Given the description of an element on the screen output the (x, y) to click on. 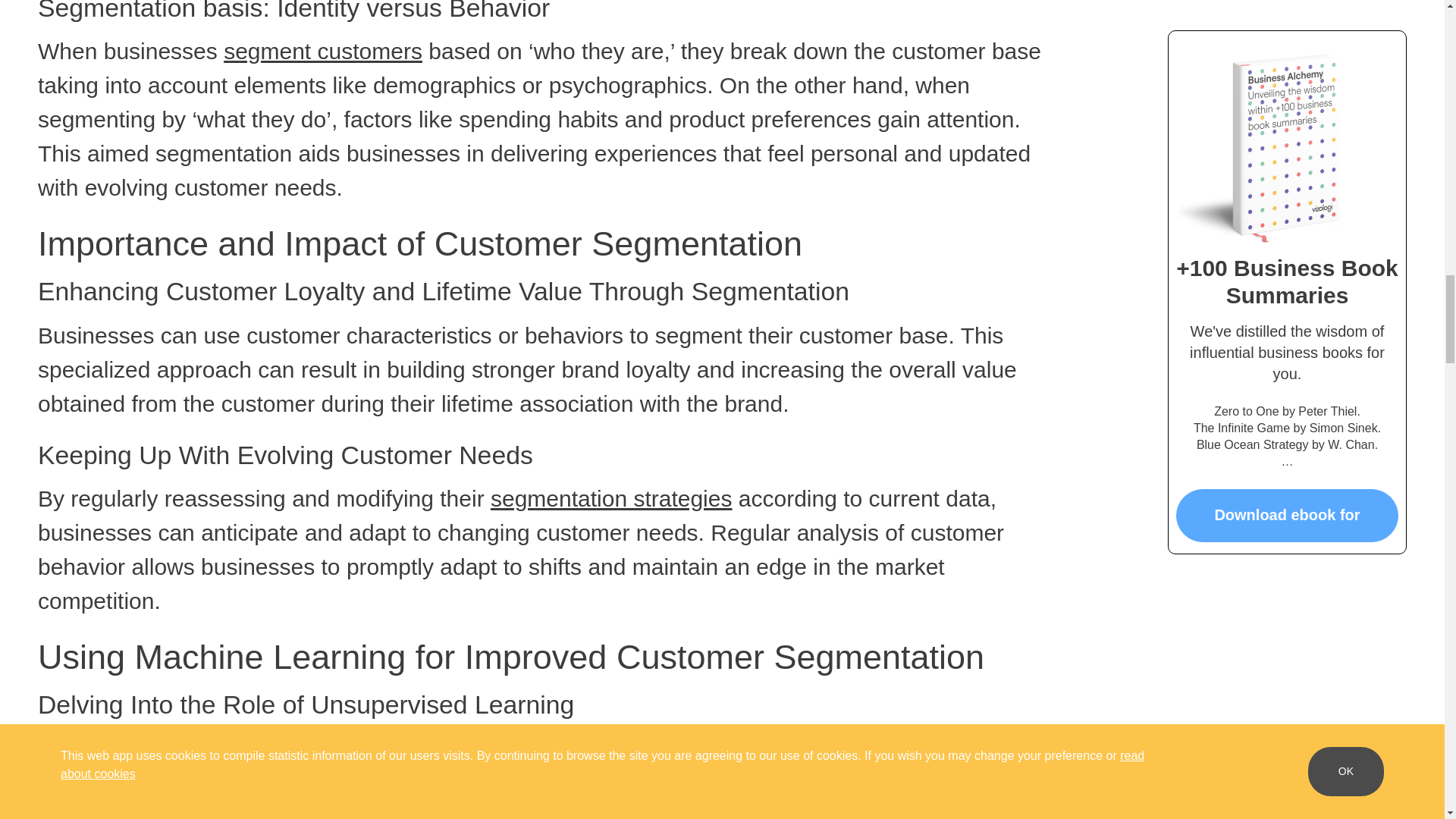
segmentation strategies (611, 498)
segment customers (323, 50)
